Given the description of an element on the screen output the (x, y) to click on. 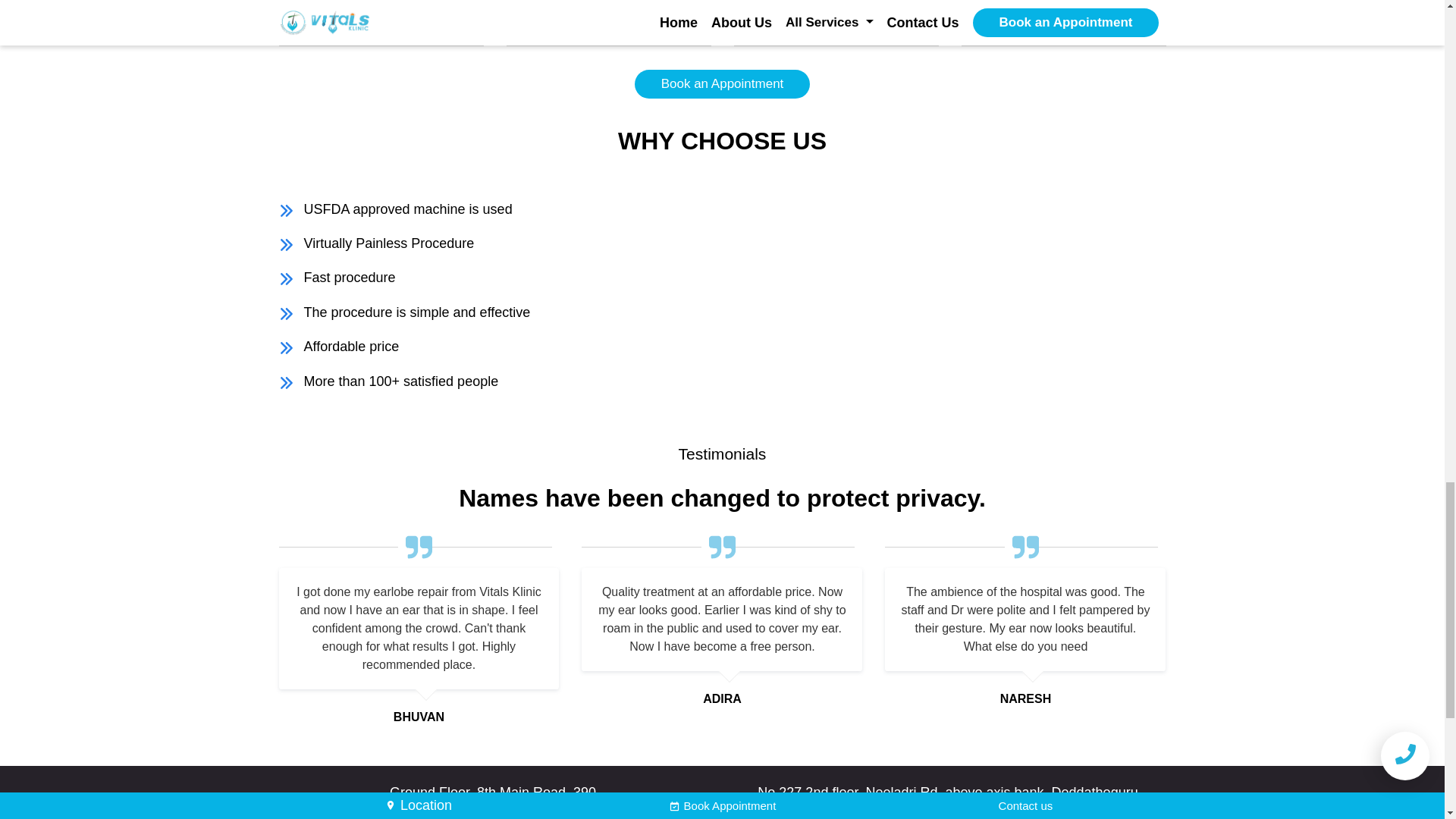
Pimple And Acne Scar Treatment (380, 19)
Book an Appointment (722, 83)
Pimple And Acne Scar Treatment (608, 19)
Tattoo Removal Treatment (1062, 7)
Laser Hair Removal (835, 7)
